Given the description of an element on the screen output the (x, y) to click on. 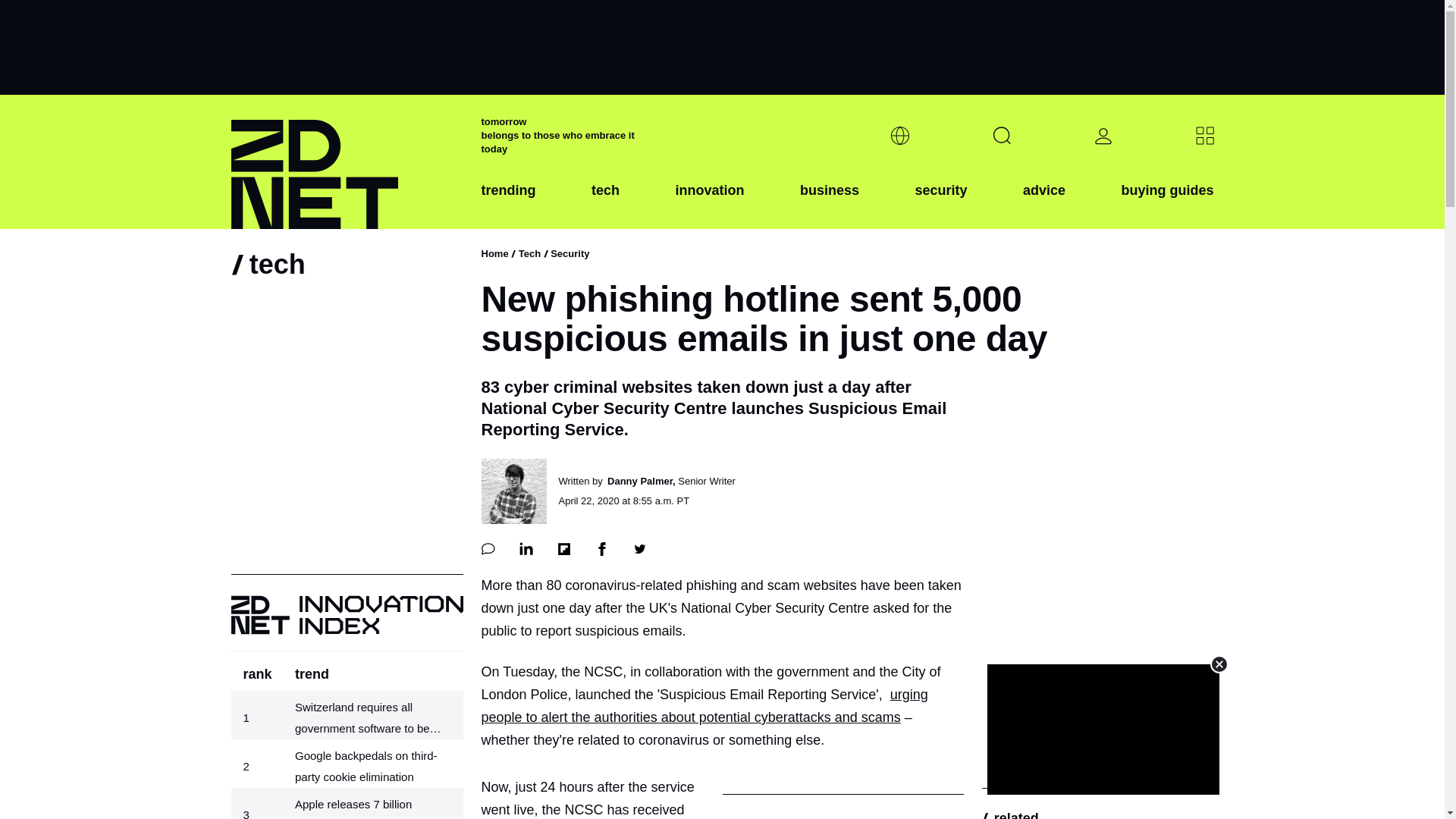
trending (507, 202)
ZDNET (346, 162)
